Given the description of an element on the screen output the (x, y) to click on. 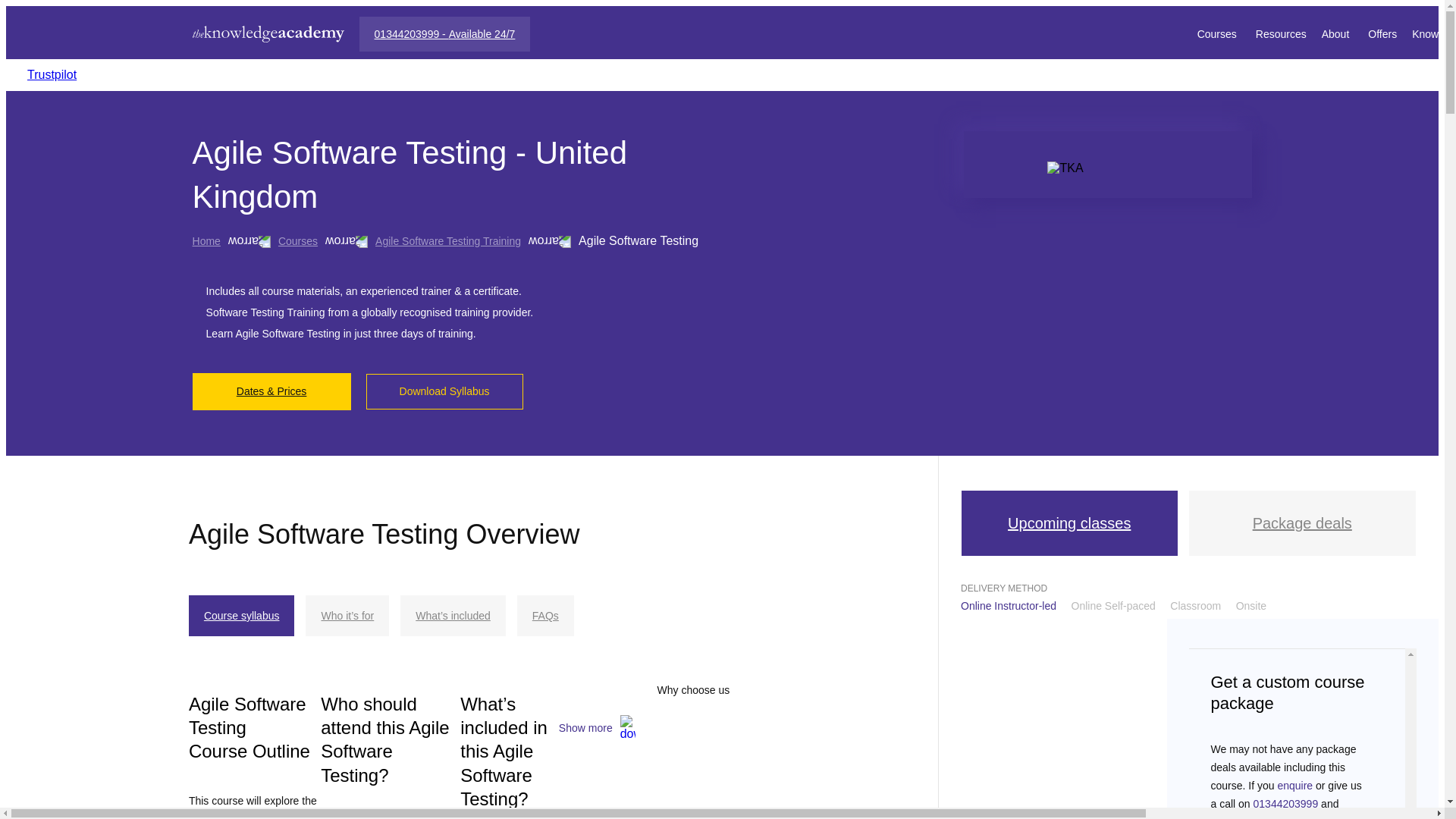
Download Syllabus (444, 391)
KnowledgePass (1434, 33)
Course syllabus (242, 615)
Agile Software Testing Training (448, 241)
Home (206, 241)
Offers (1382, 33)
Resources (1280, 33)
FAQs (544, 615)
Courses (297, 241)
About (1338, 33)
Trustpilot (52, 74)
Courses (1218, 33)
